Given the description of an element on the screen output the (x, y) to click on. 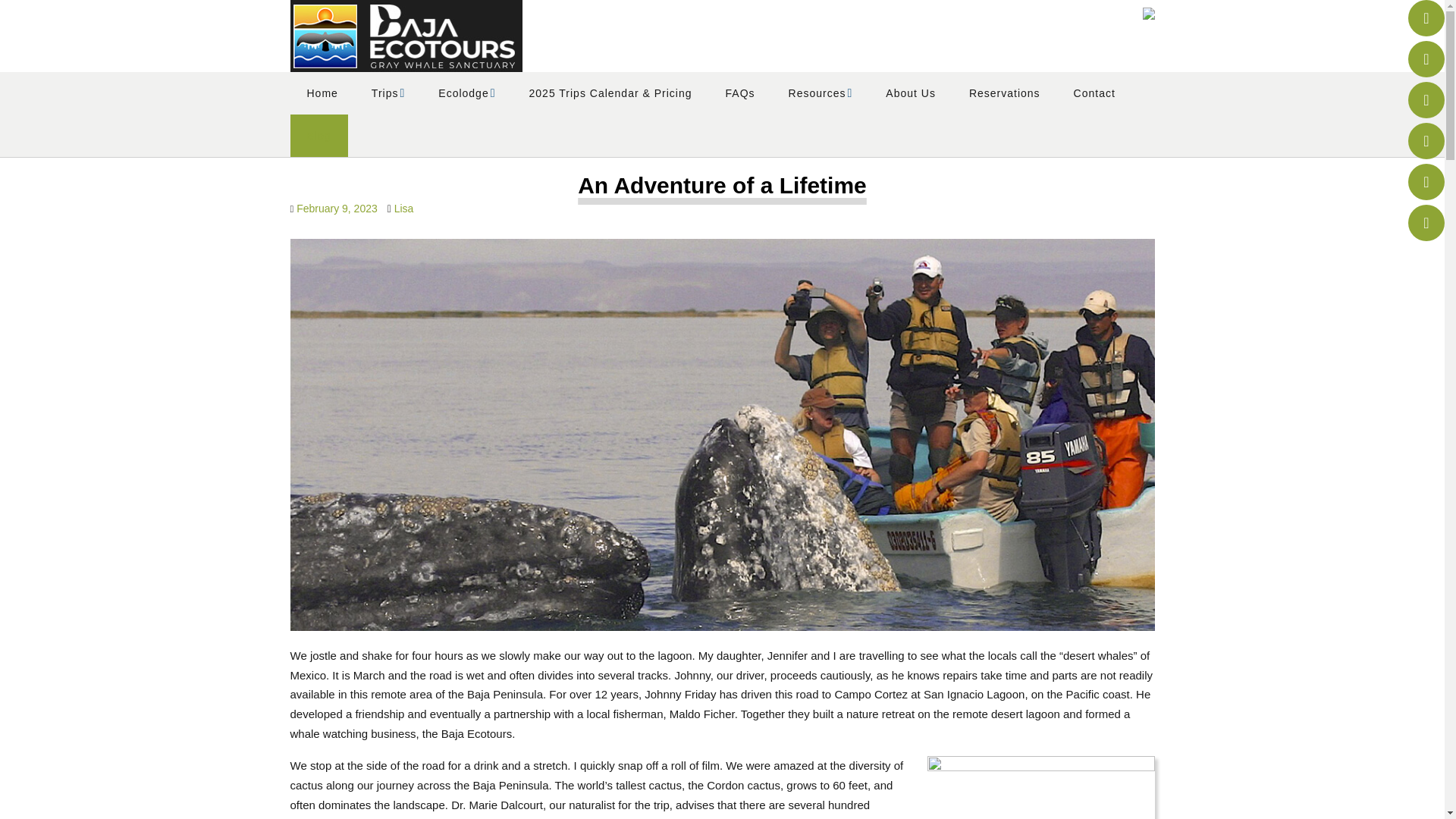
Home (321, 93)
Reservations (1004, 93)
Resources (820, 93)
Lisa (403, 208)
About Us (910, 93)
Baja Ecotours (405, 36)
Blog (318, 135)
Trips (388, 93)
Ecolodge (467, 93)
FAQs (740, 93)
February 9, 2023 (337, 208)
Contact (1094, 93)
